Given the description of an element on the screen output the (x, y) to click on. 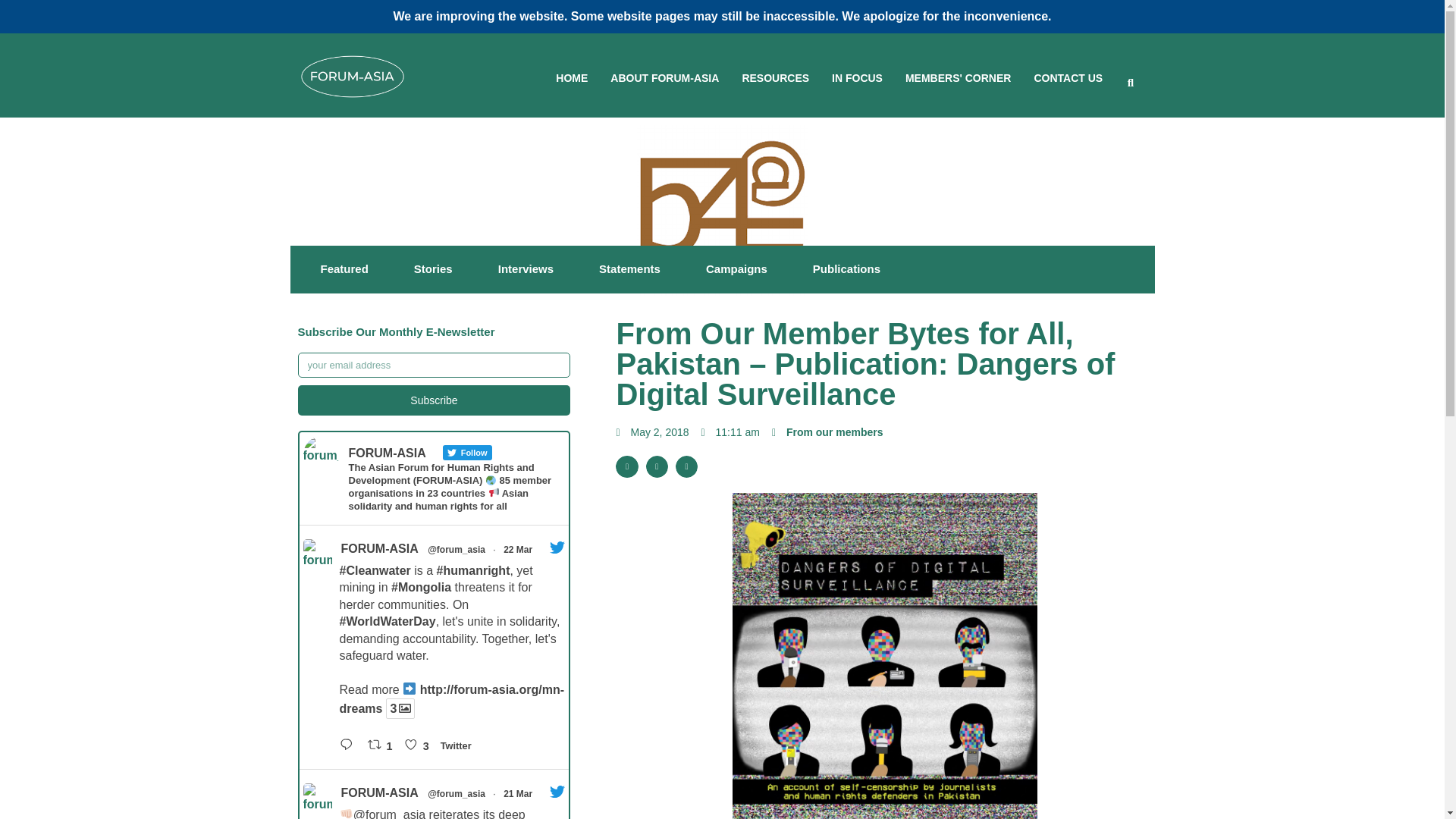
IN FOCUS (856, 78)
HOME (571, 78)
CONTACT US (1067, 78)
MEMBERS' CORNER (957, 78)
ABOUT FORUM-ASIA (664, 78)
RESOURCES (774, 78)
